Given the description of an element on the screen output the (x, y) to click on. 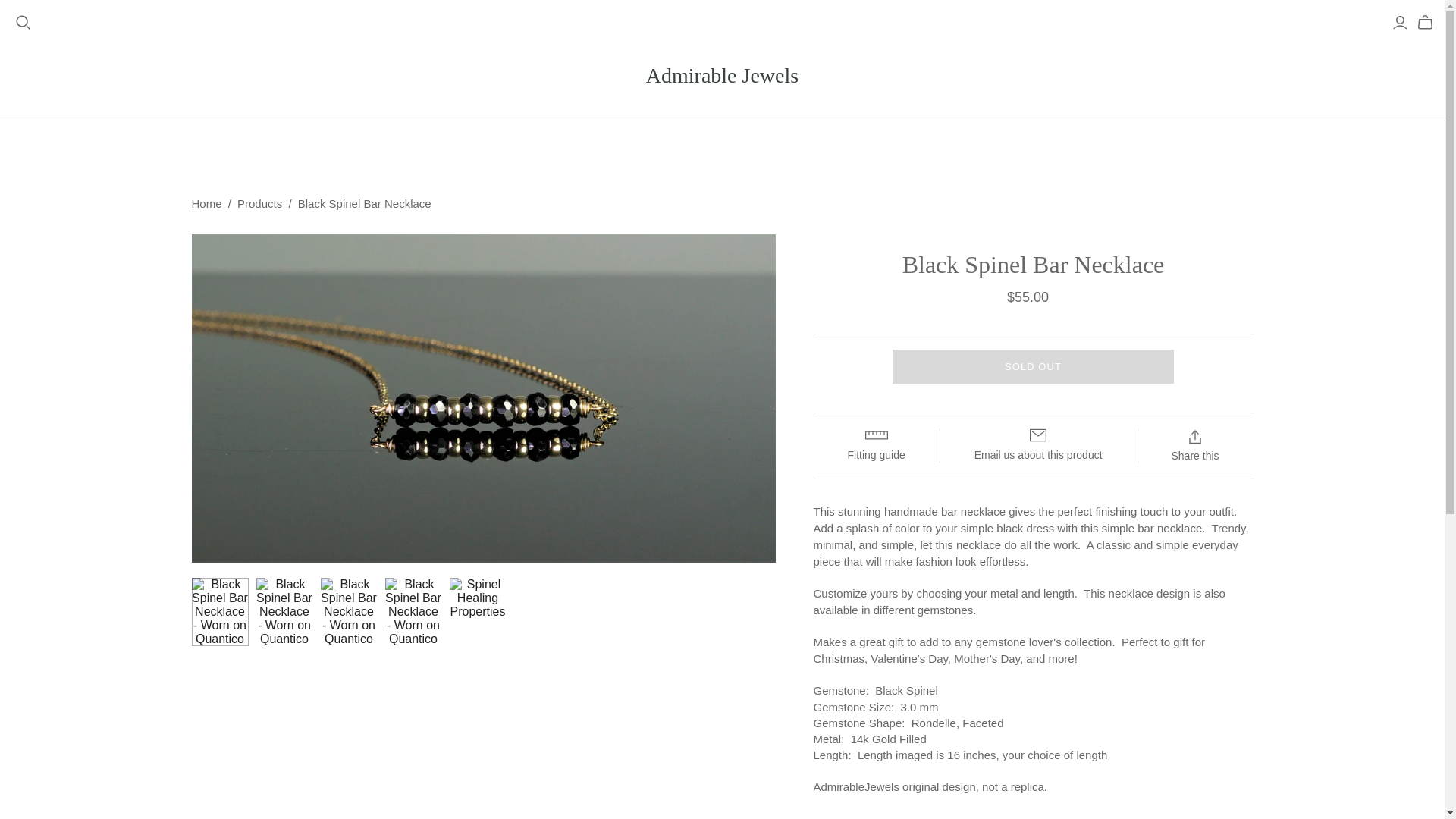
Home (205, 203)
Admirable Jewels (721, 75)
Products (259, 203)
